Given the description of an element on the screen output the (x, y) to click on. 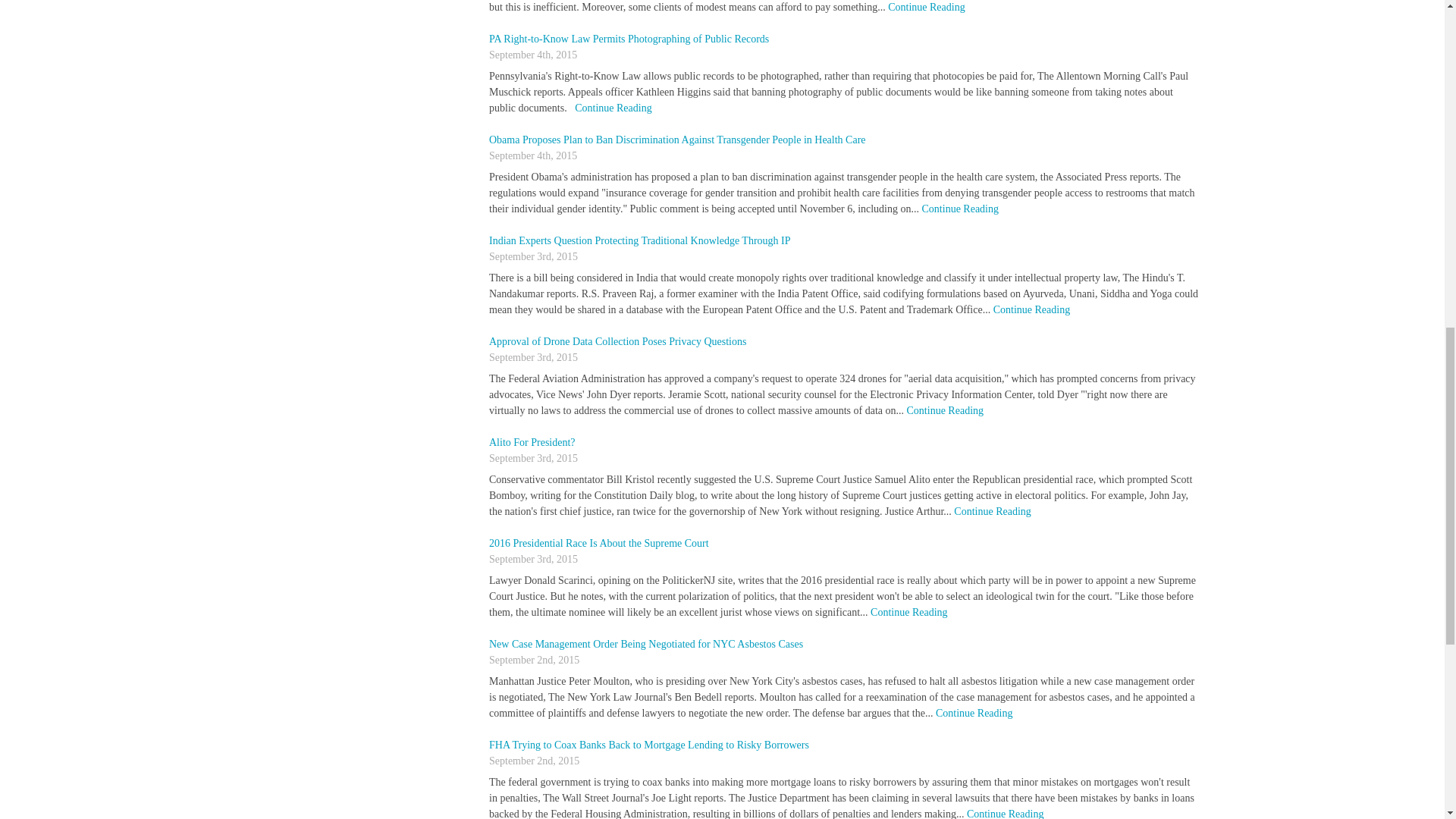
Alito For President? (532, 441)
Continue Reading (959, 208)
Continue Reading (945, 410)
Continue Reading (1031, 309)
2016 Presidential Race Is About the Supreme Court (599, 542)
Approval of Drone Data Collection Poses Privacy Questions (617, 341)
Continue Reading (613, 107)
Continue Reading (926, 7)
Continue Reading (974, 713)
PA Right-to-Know Law Permits Photographing of Public Records (628, 39)
Continue Reading (991, 511)
Continue Reading (1004, 813)
